Given the description of an element on the screen output the (x, y) to click on. 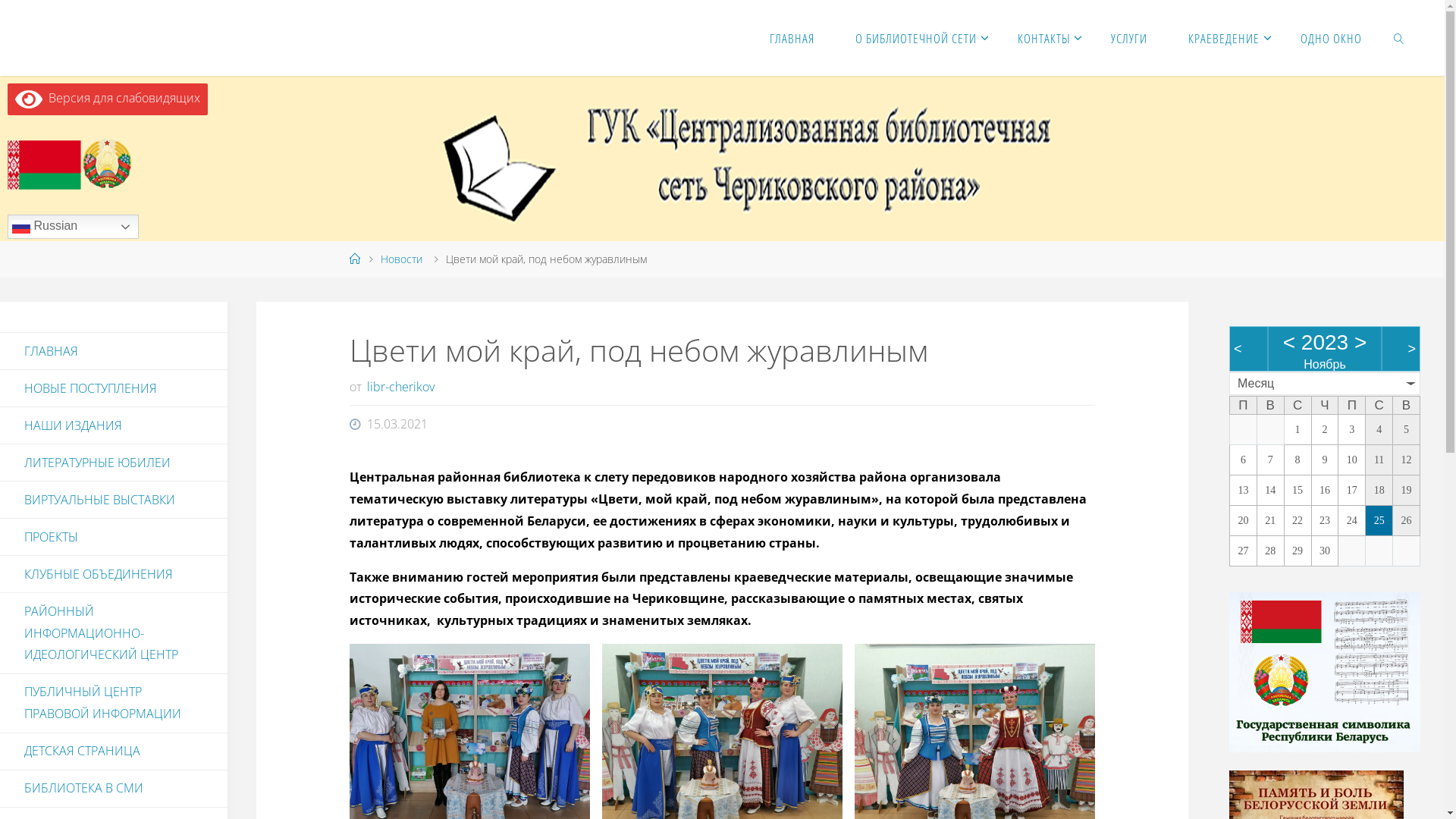
> Element type: text (1411, 348)
libr-cherikov Element type: text (399, 386)
> Element type: text (1360, 342)
< Element type: text (1237, 348)
< Element type: text (1289, 342)
Russian Element type: text (72, 226)
